Given the description of an element on the screen output the (x, y) to click on. 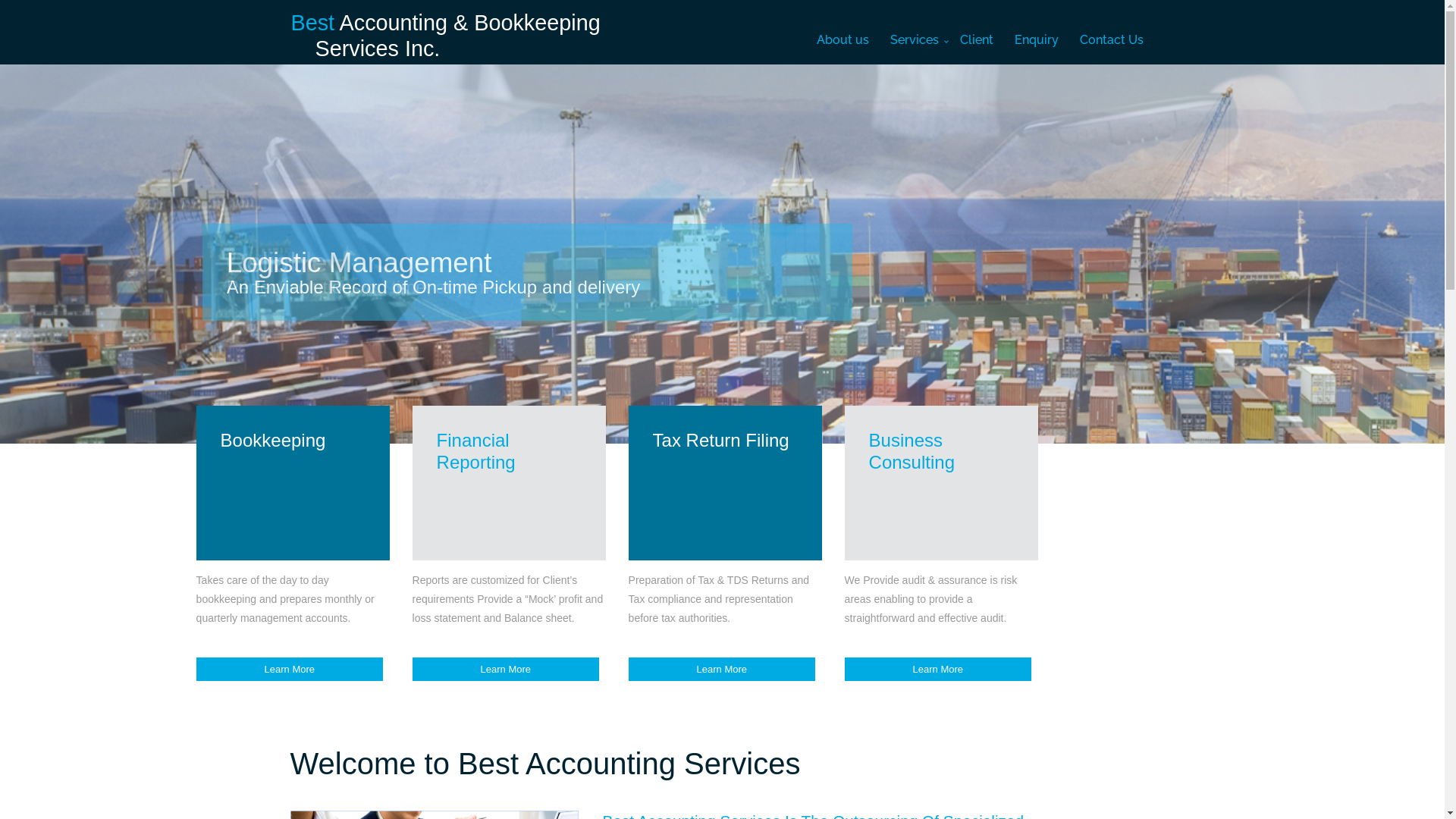
Services Element type: text (914, 39)
Client Element type: text (976, 39)
Learn More Element type: text (289, 668)
Learn More Element type: text (937, 668)
Best Accounting & Bookkeeping
    Services Inc. Element type: text (445, 19)
Enquiry Element type: text (1036, 39)
Learn More Element type: text (505, 668)
About us Element type: text (841, 39)
Learn More Element type: text (721, 668)
Contact Us Element type: text (1111, 39)
